Given the description of an element on the screen output the (x, y) to click on. 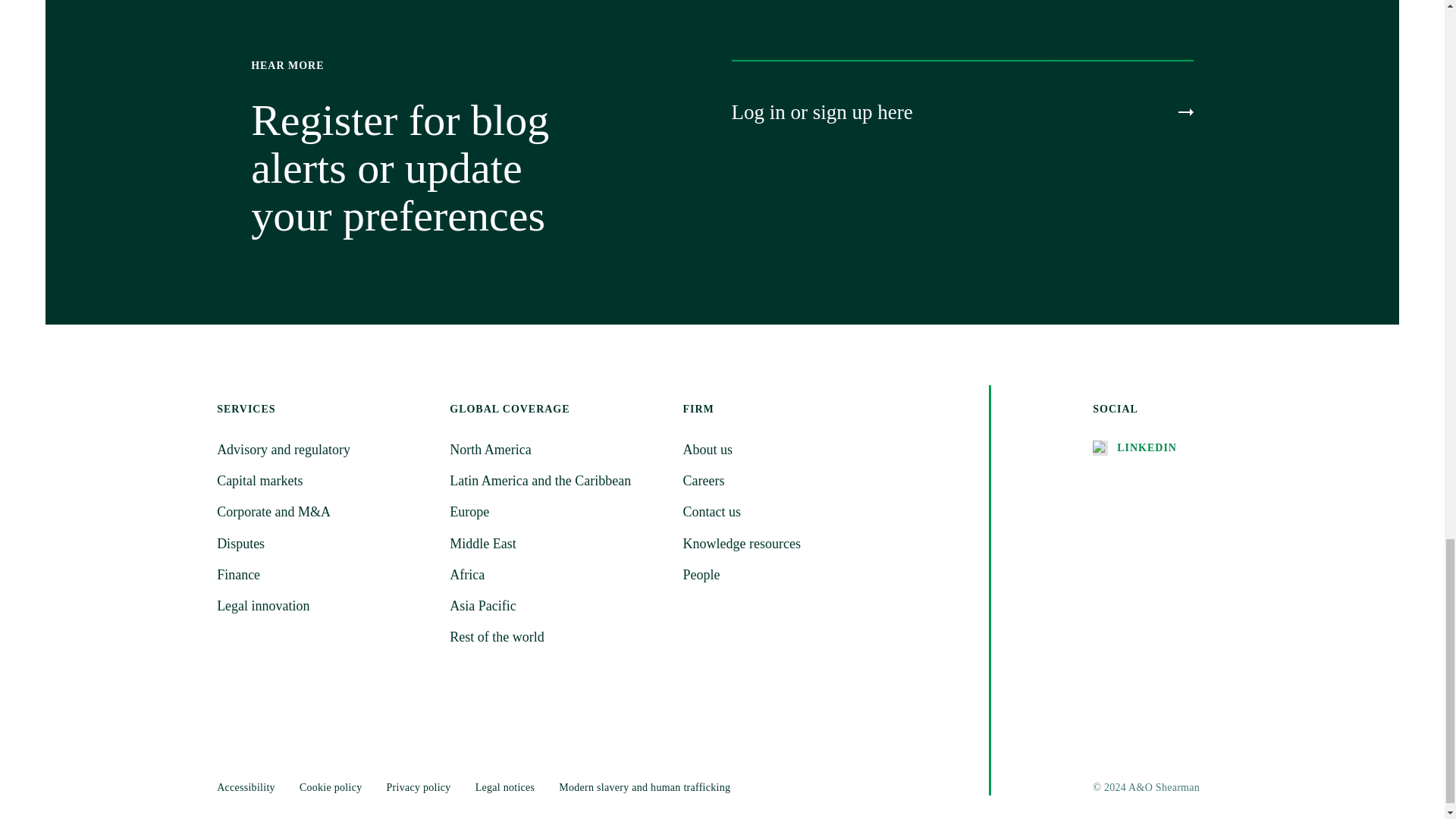
About us (789, 449)
Log in or sign up here (961, 112)
Middle East (556, 543)
Asia Pacific (556, 606)
Latin America and the Caribbean (556, 480)
Europe (556, 511)
Capital markets (323, 480)
Finance (323, 574)
Africa (556, 574)
Contact us (789, 511)
